Given the description of an element on the screen output the (x, y) to click on. 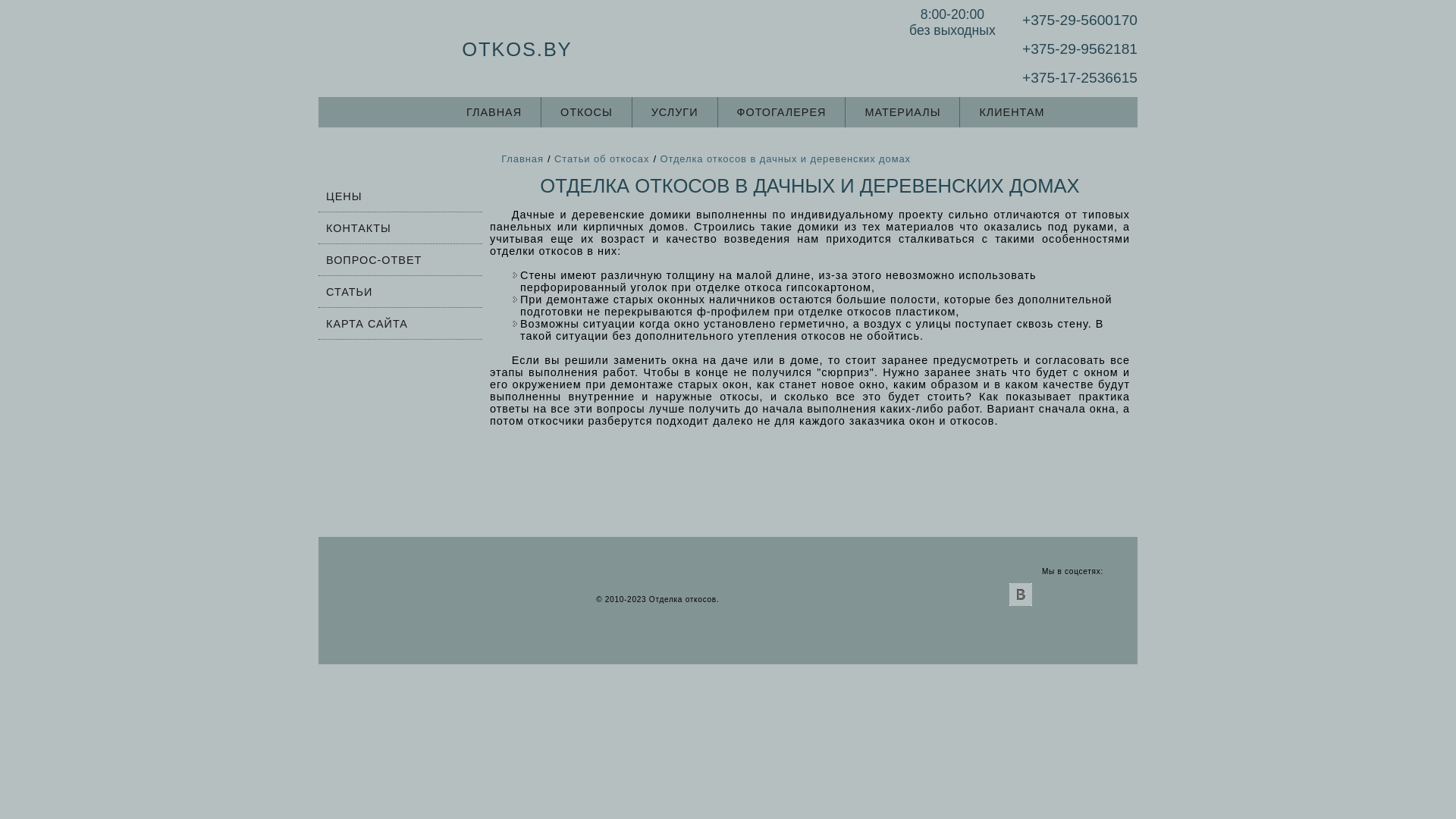
+375-17-2536615 Element type: text (1079, 77)
OTKOS.BY Element type: text (448, 49)
+375-29-9562181 Element type: text (1079, 48)
+375-29-5600170 Element type: text (1079, 20)
